Given the description of an element on the screen output the (x, y) to click on. 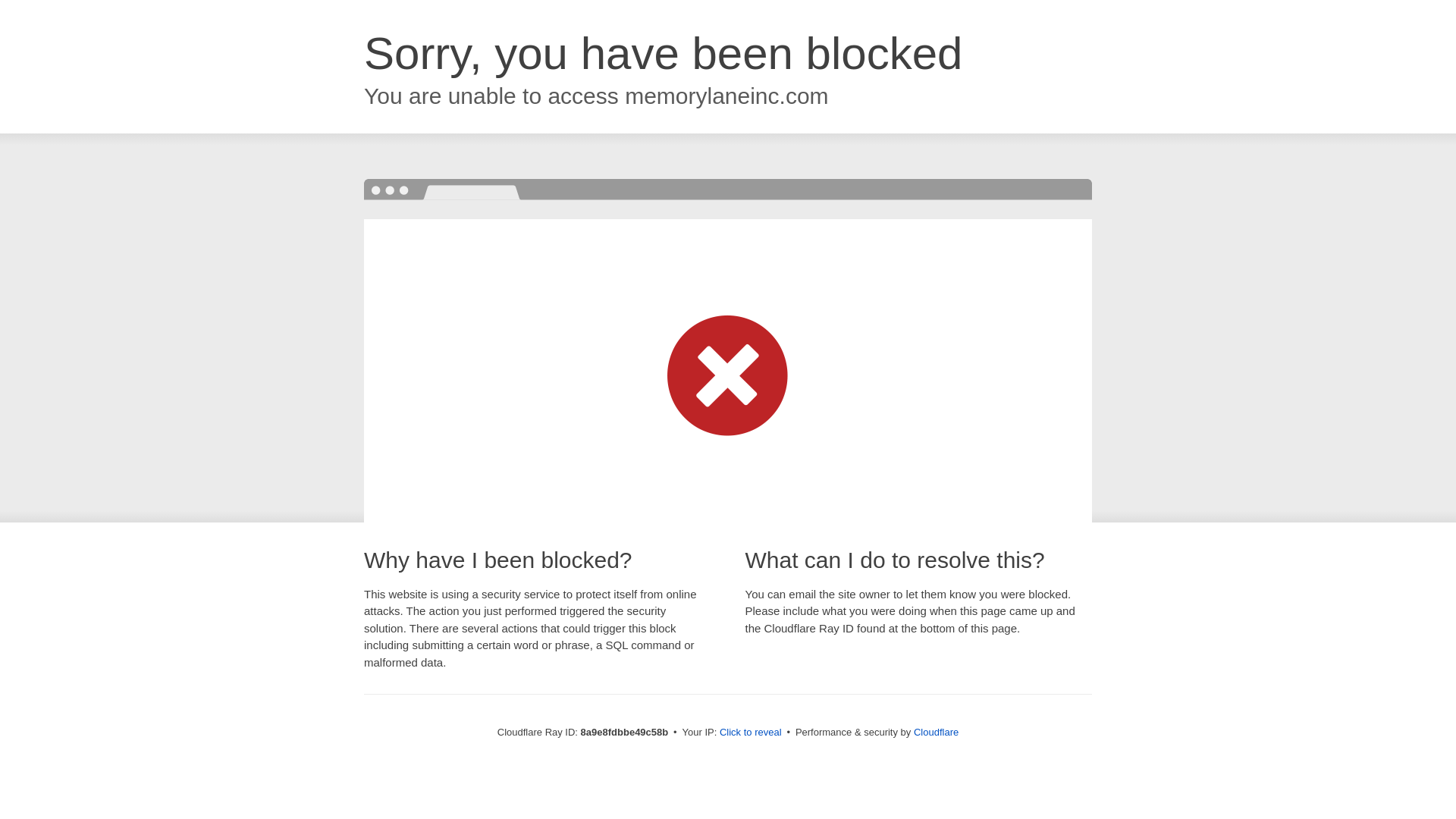
Cloudflare (936, 731)
Click to reveal (750, 732)
